Given the description of an element on the screen output the (x, y) to click on. 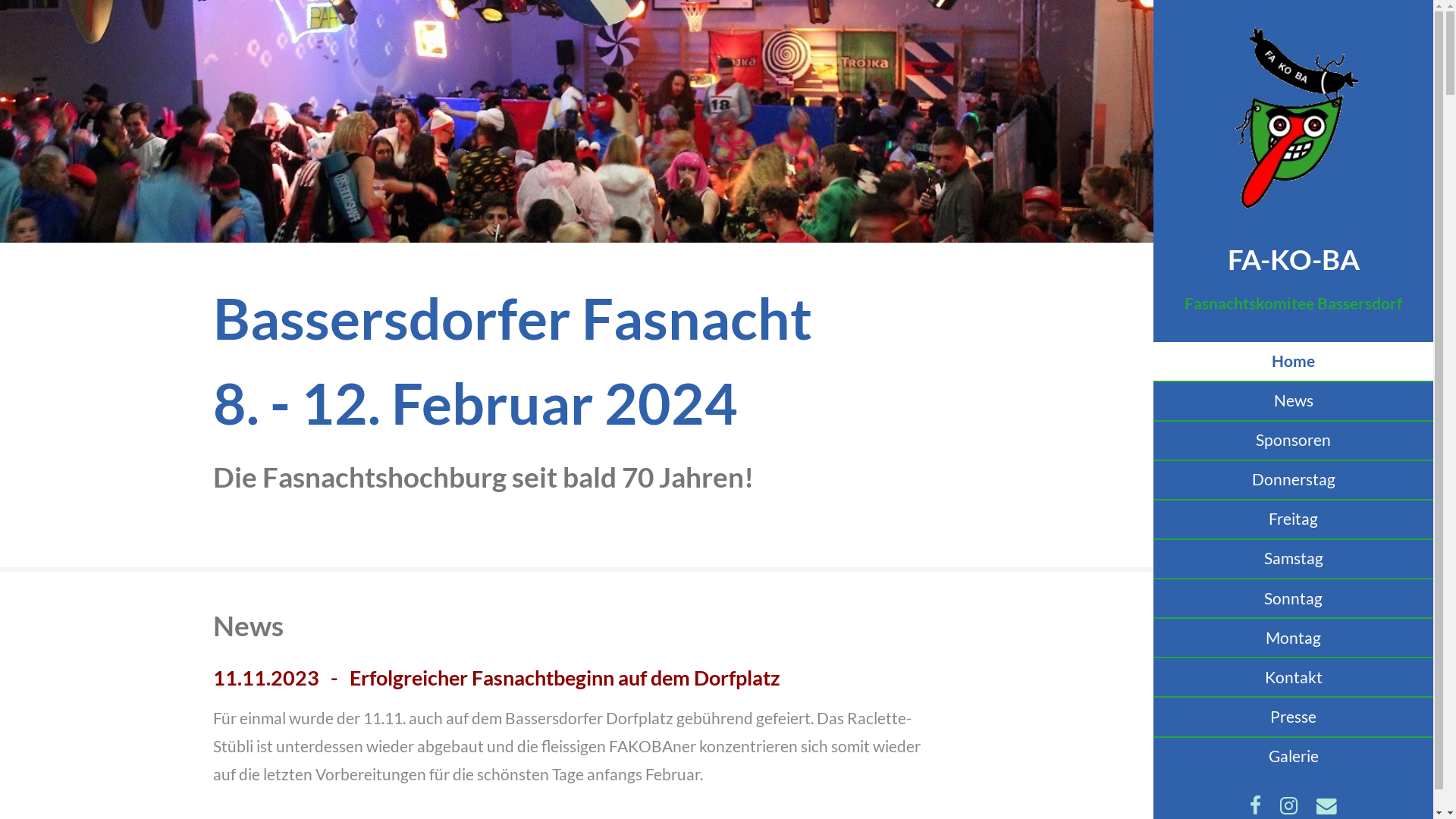
Sponsoren Element type: text (1293, 440)
News Element type: text (1293, 401)
Freitag Element type: text (1293, 519)
Galerie Element type: text (1293, 756)
Montag Element type: text (1293, 637)
Samstag Element type: text (1293, 558)
Sonntag Element type: text (1293, 598)
Presse Element type: text (1293, 716)
Kontakt Element type: text (1293, 677)
Donnerstag Element type: text (1293, 479)
Home Element type: text (1293, 360)
FA-KO-BA Element type: text (1292, 258)
